Given the description of an element on the screen output the (x, y) to click on. 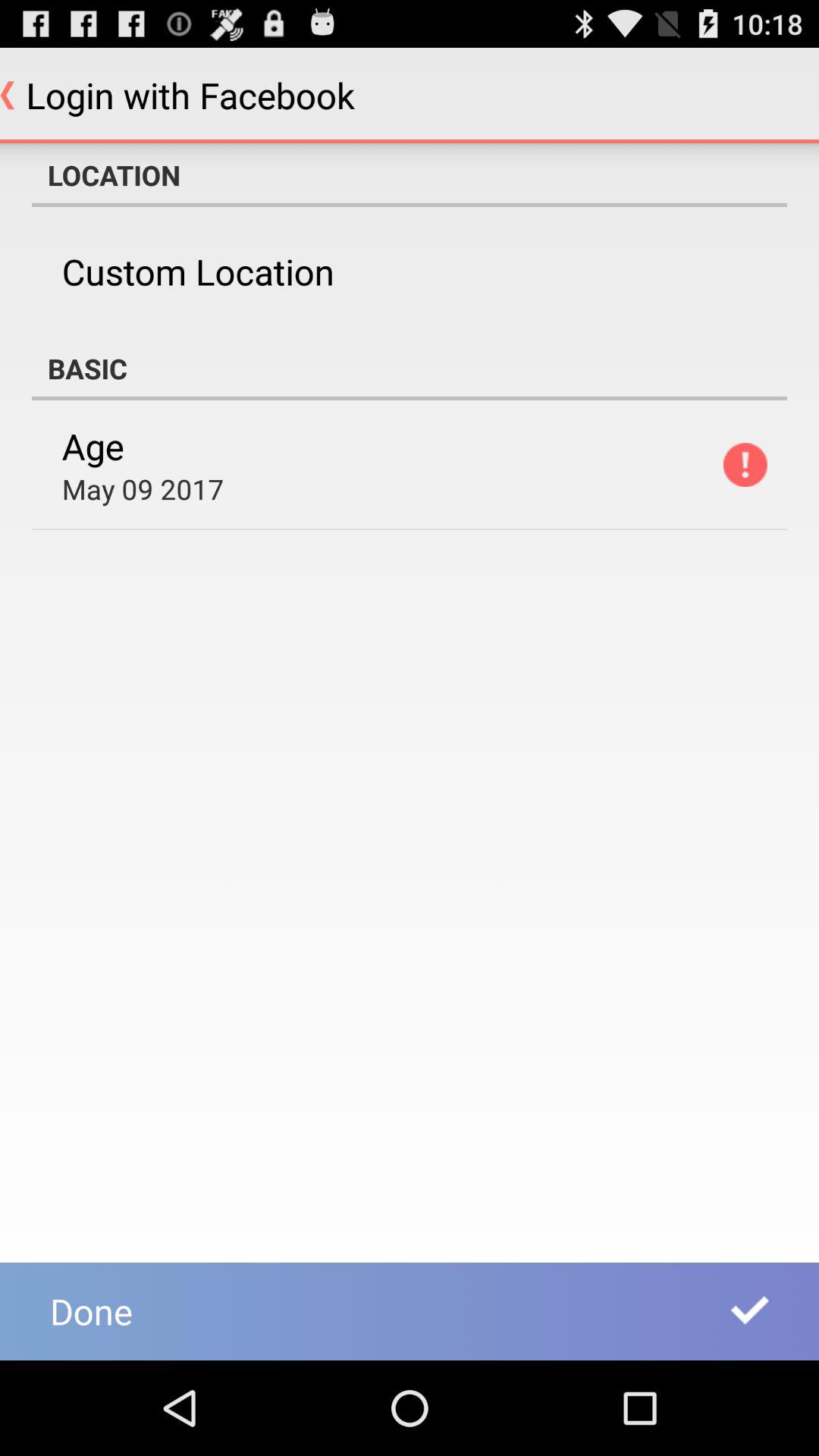
launch the app above age app (409, 368)
